Given the description of an element on the screen output the (x, y) to click on. 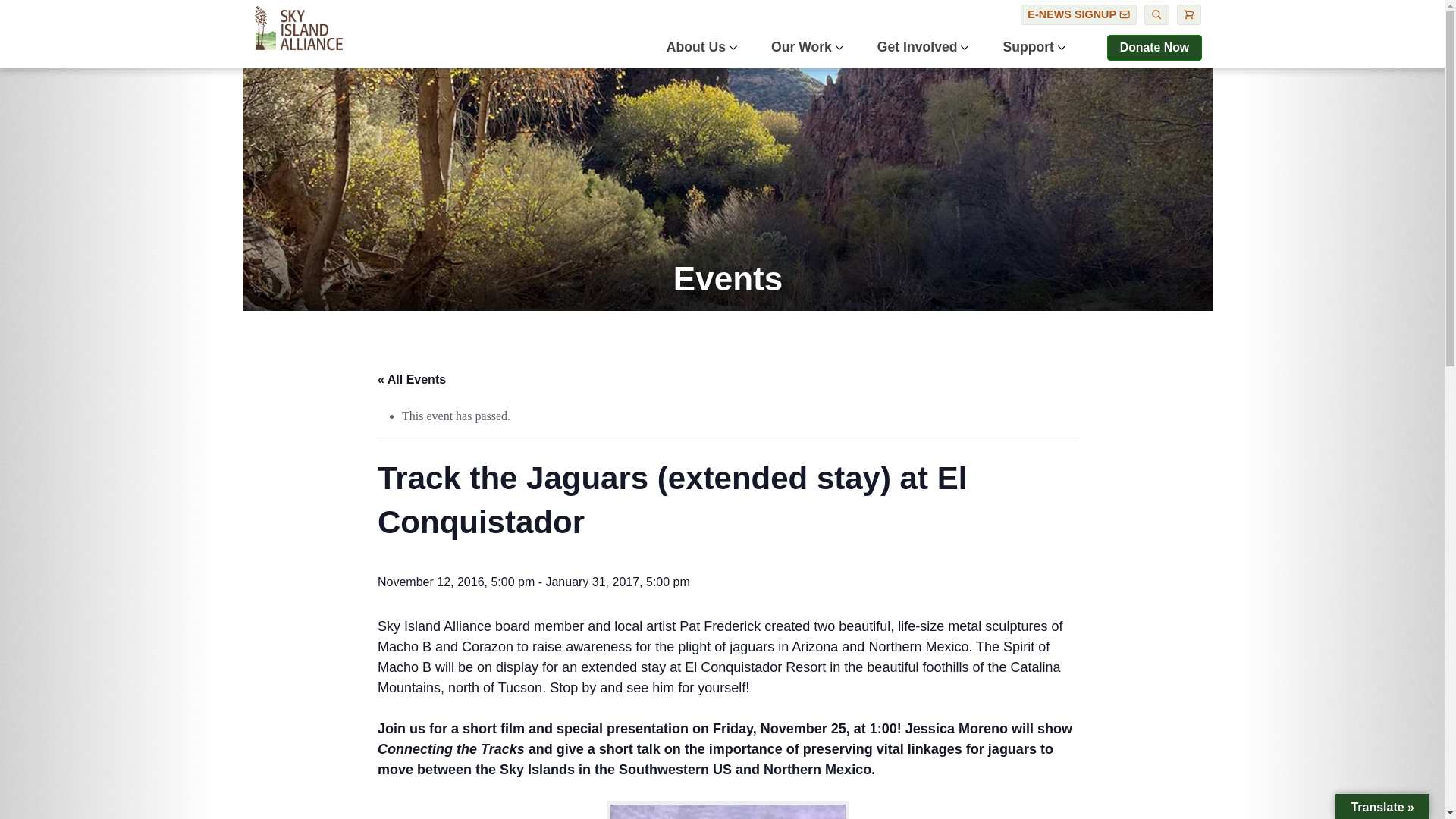
E-news signup form (1078, 14)
Shop (1188, 14)
E-NEWS SIGNUP (1078, 14)
Search (1156, 14)
